Given the description of an element on the screen output the (x, y) to click on. 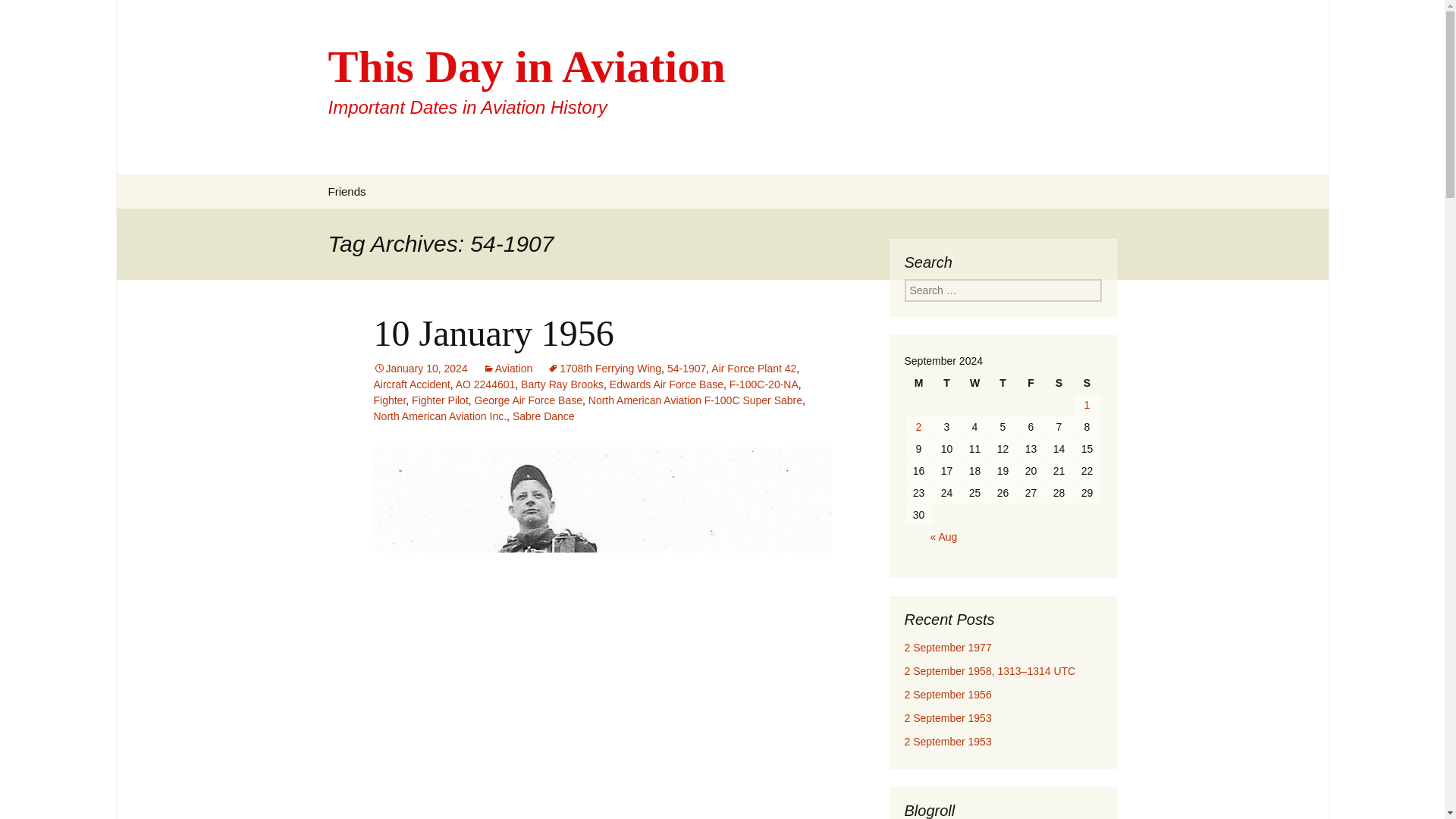
Aviation (507, 368)
Permalink to 10 January 1956 (419, 368)
10 January 1956 (492, 332)
January 10, 2024 (419, 368)
2 September 1953 (947, 741)
Friday (1031, 382)
Saturday (1058, 382)
54-1907 (686, 368)
Sunday (1087, 382)
2 September 1977 (947, 647)
